Given the description of an element on the screen output the (x, y) to click on. 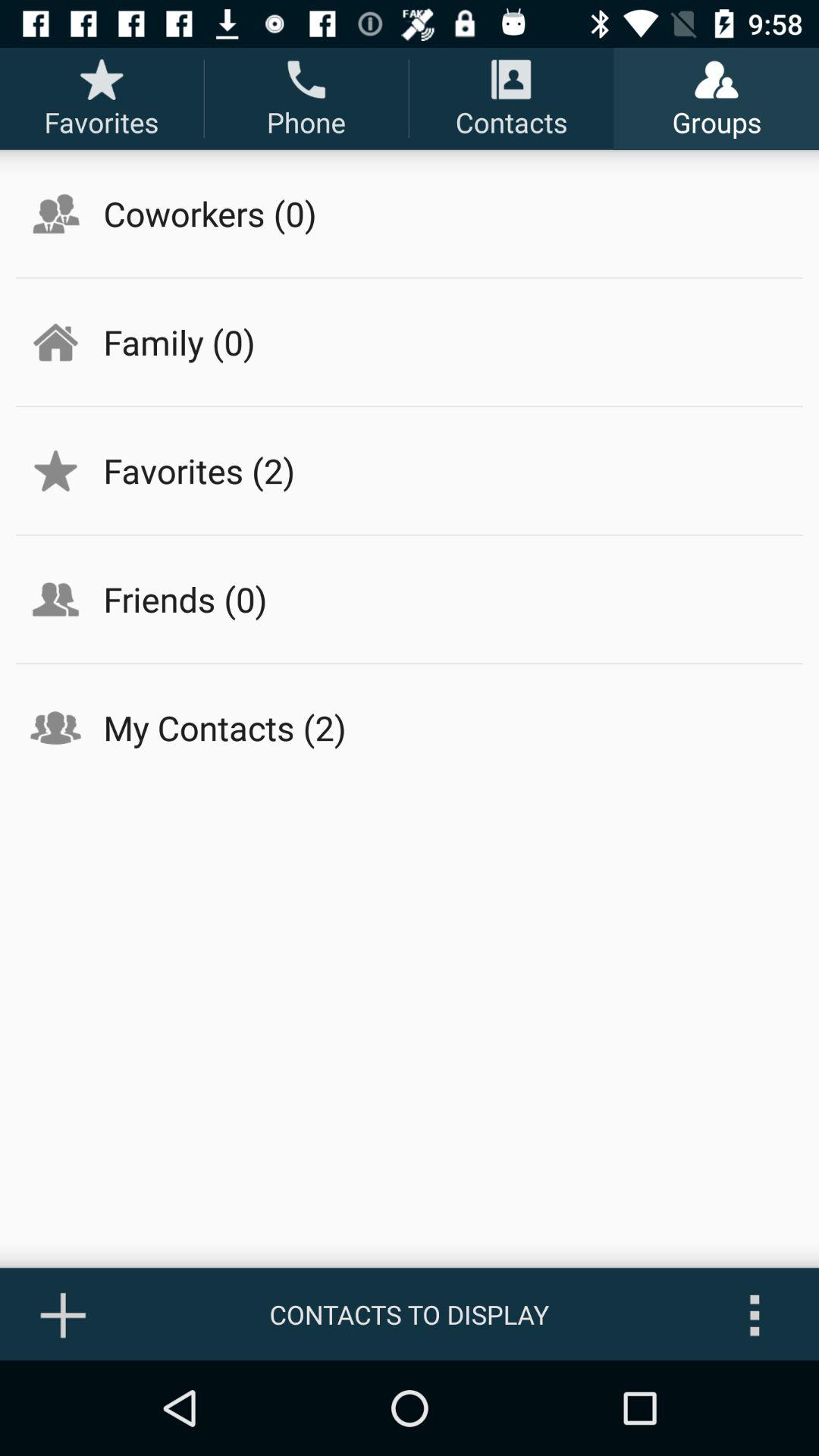
turn off icon next to the contacts to display item (63, 1314)
